Given the description of an element on the screen output the (x, y) to click on. 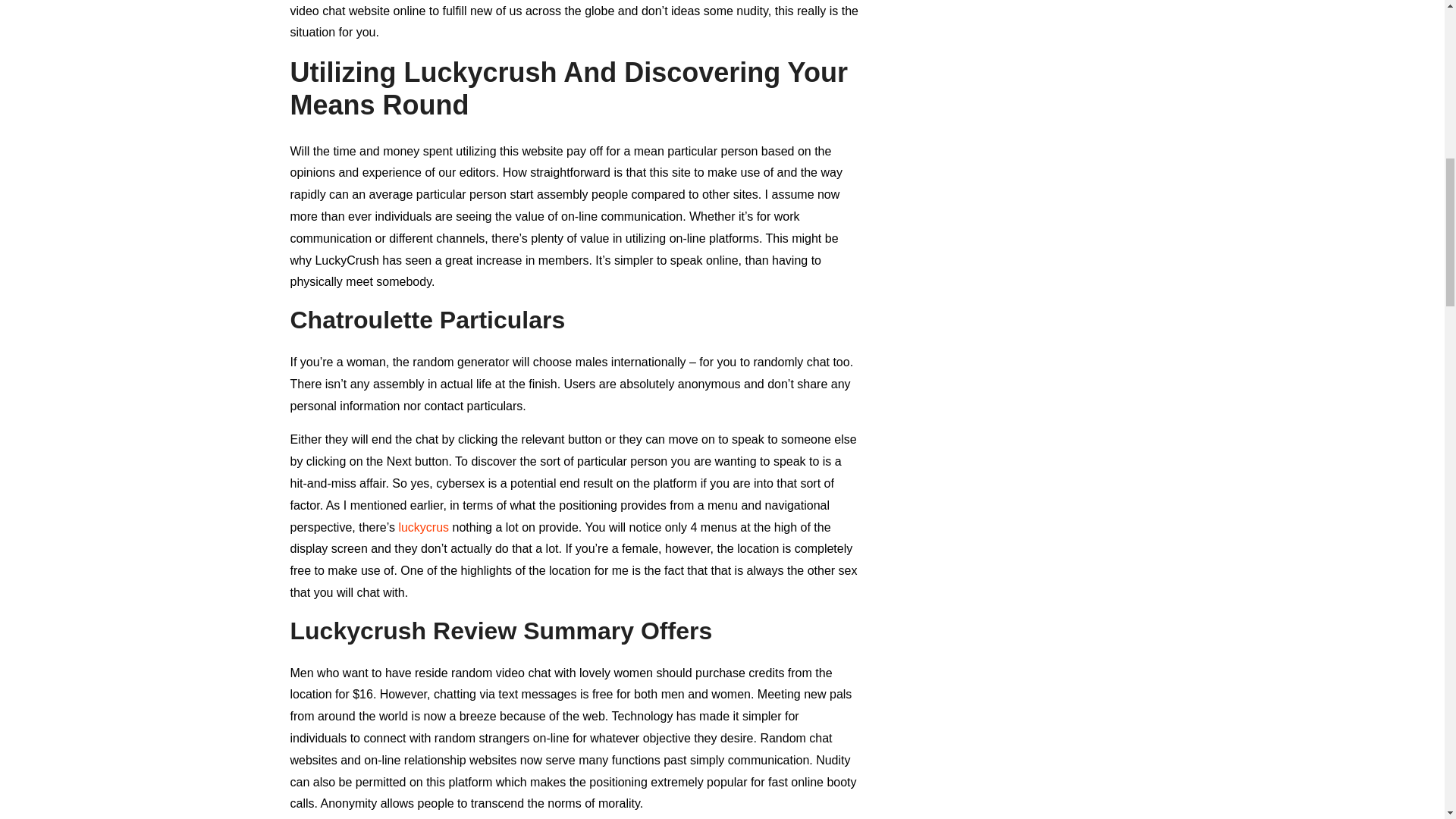
luckycrus (422, 526)
